Given the description of an element on the screen output the (x, y) to click on. 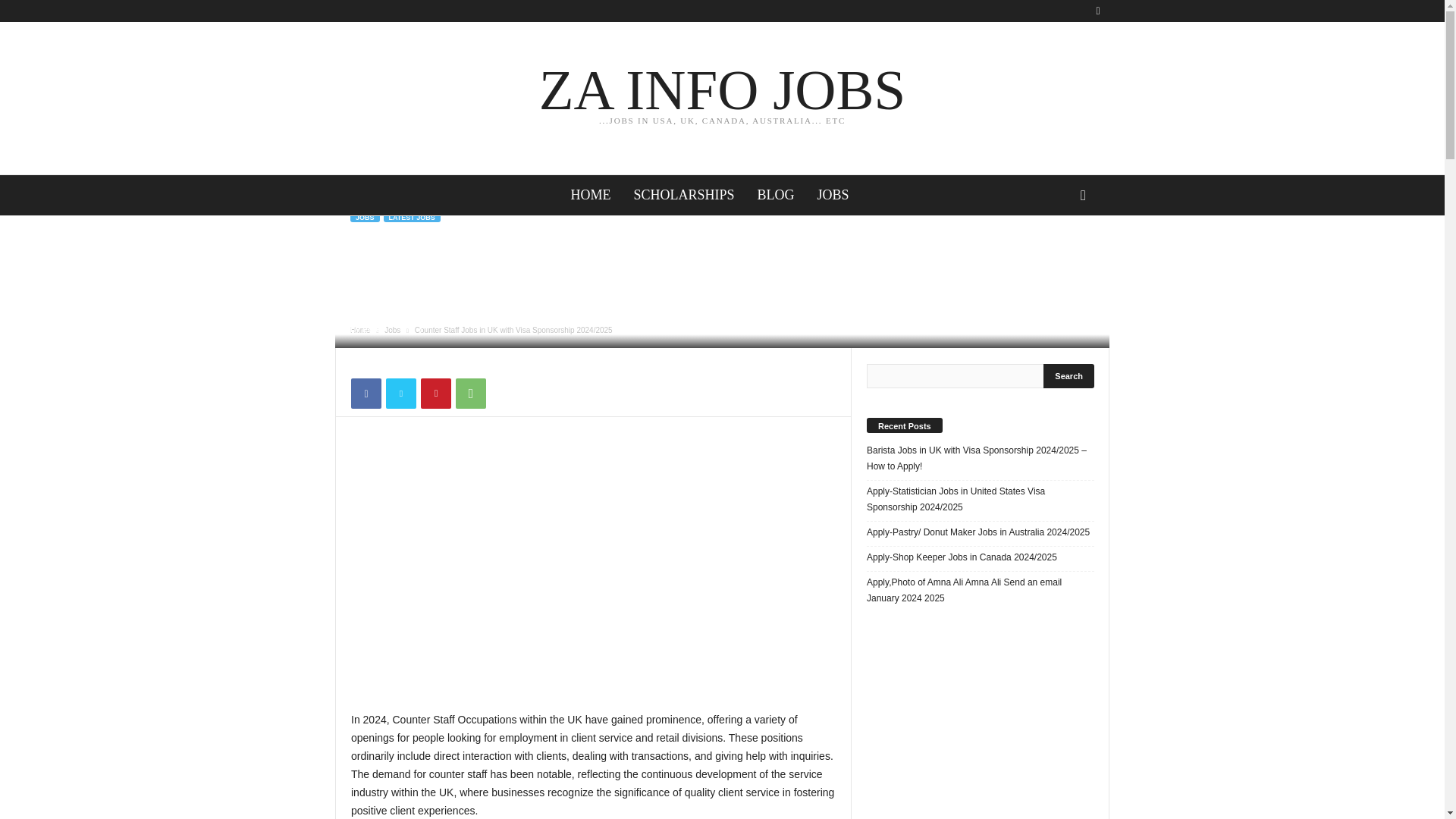
Jobs (392, 329)
SCHOLARSHIPS (683, 195)
Emem (374, 328)
1 (413, 328)
LATEST JOBS (412, 216)
HOME (590, 195)
JOBS (832, 195)
Home (722, 97)
Facebook (360, 329)
BLOG (365, 393)
View all posts in Jobs (775, 195)
Search (392, 329)
Advertisement (1068, 375)
JOBS (593, 579)
